Given the description of an element on the screen output the (x, y) to click on. 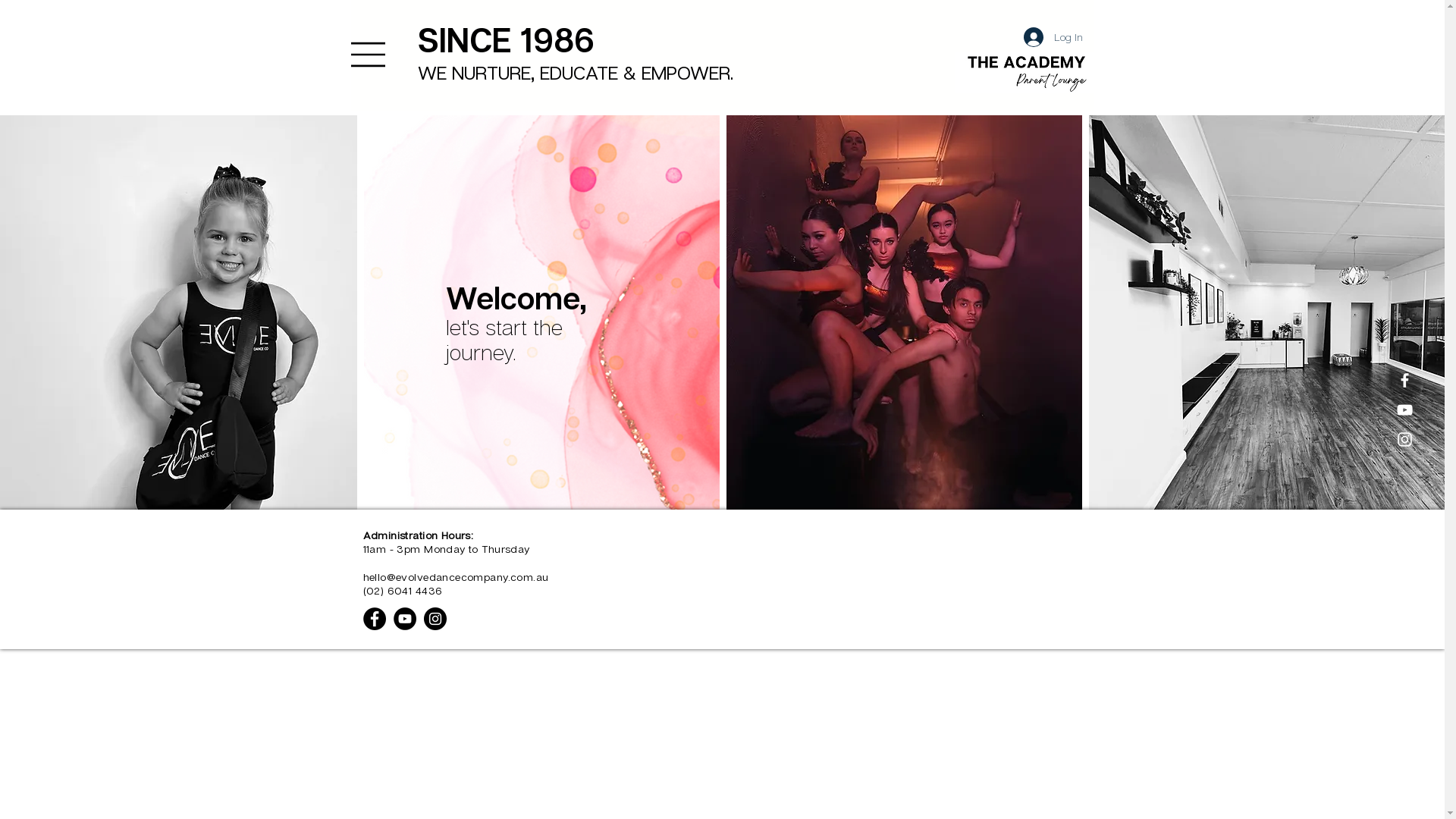
Welcome,
let's start the journey. Element type: text (515, 326)
hello@evolvedancecompany.com.au Element type: text (455, 576)
Log In Element type: text (1053, 36)
